Given the description of an element on the screen output the (x, y) to click on. 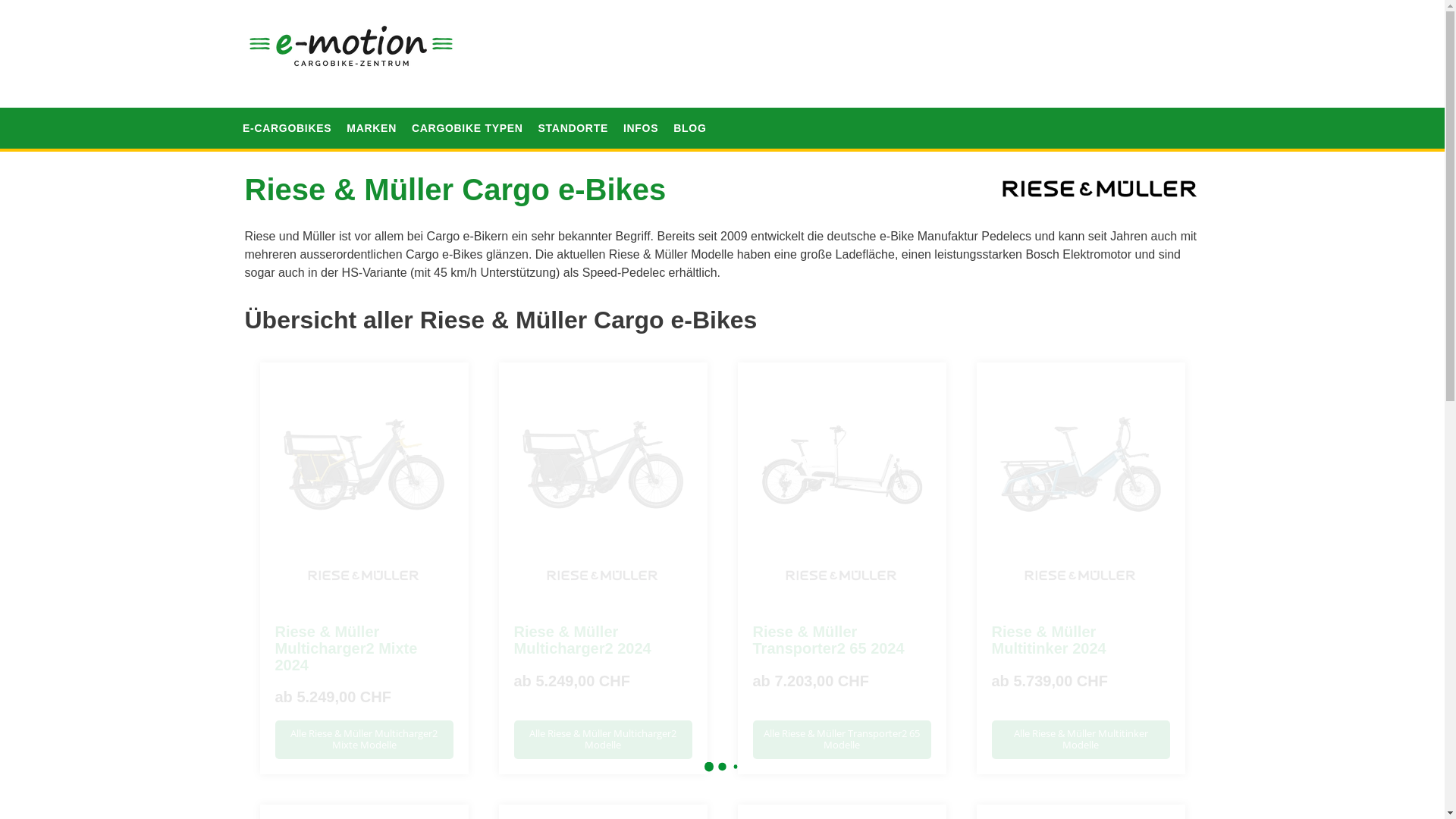
E-CARGOBIKES Element type: text (286, 106)
STANDORTE Element type: text (573, 106)
BLOG Element type: text (689, 106)
INFOS Element type: text (640, 106)
CARGOBIKE TYPEN Element type: text (467, 106)
MARKEN Element type: text (371, 106)
